Given the description of an element on the screen output the (x, y) to click on. 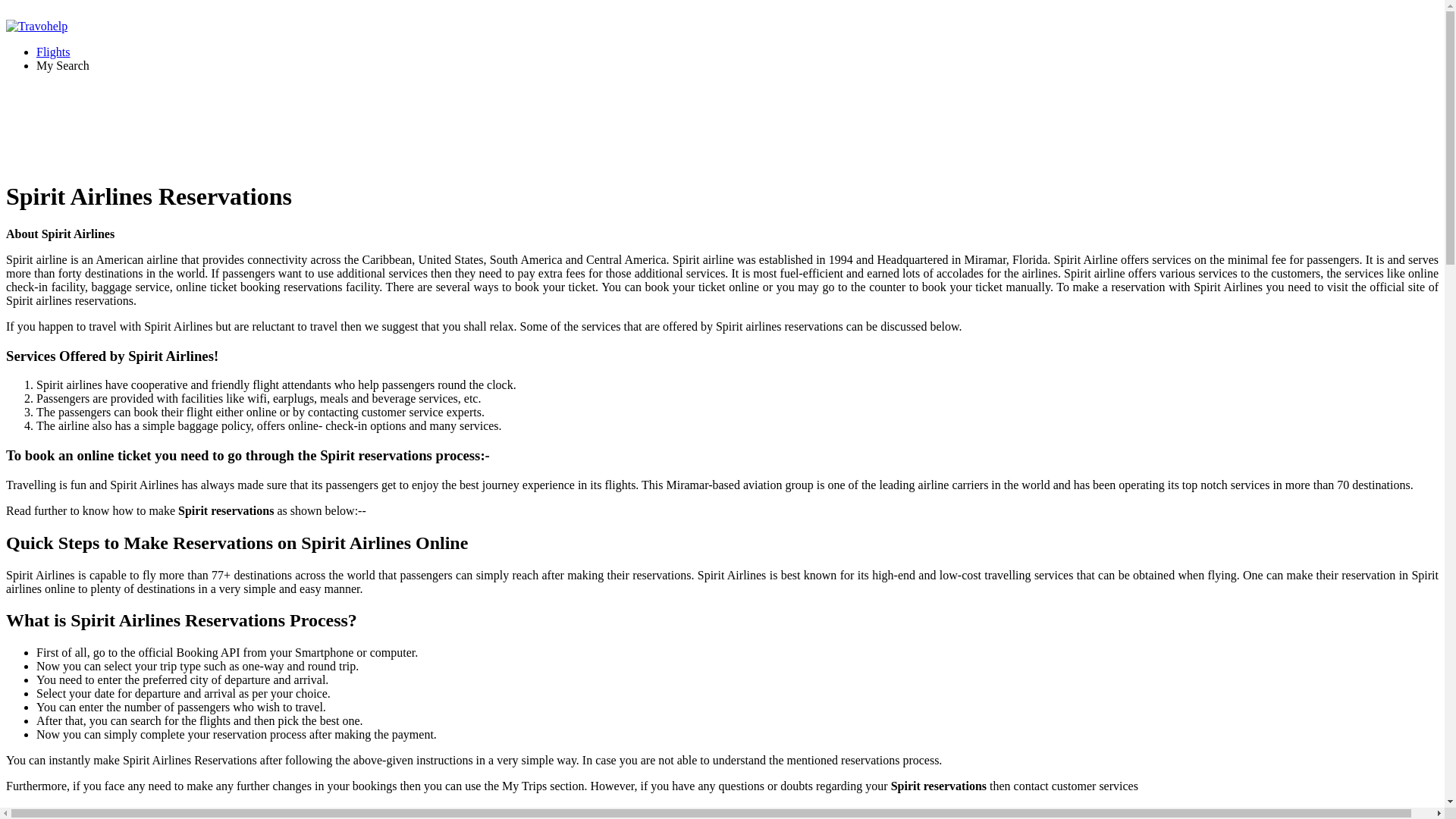
Flights (52, 51)
My Search (62, 65)
